Given the description of an element on the screen output the (x, y) to click on. 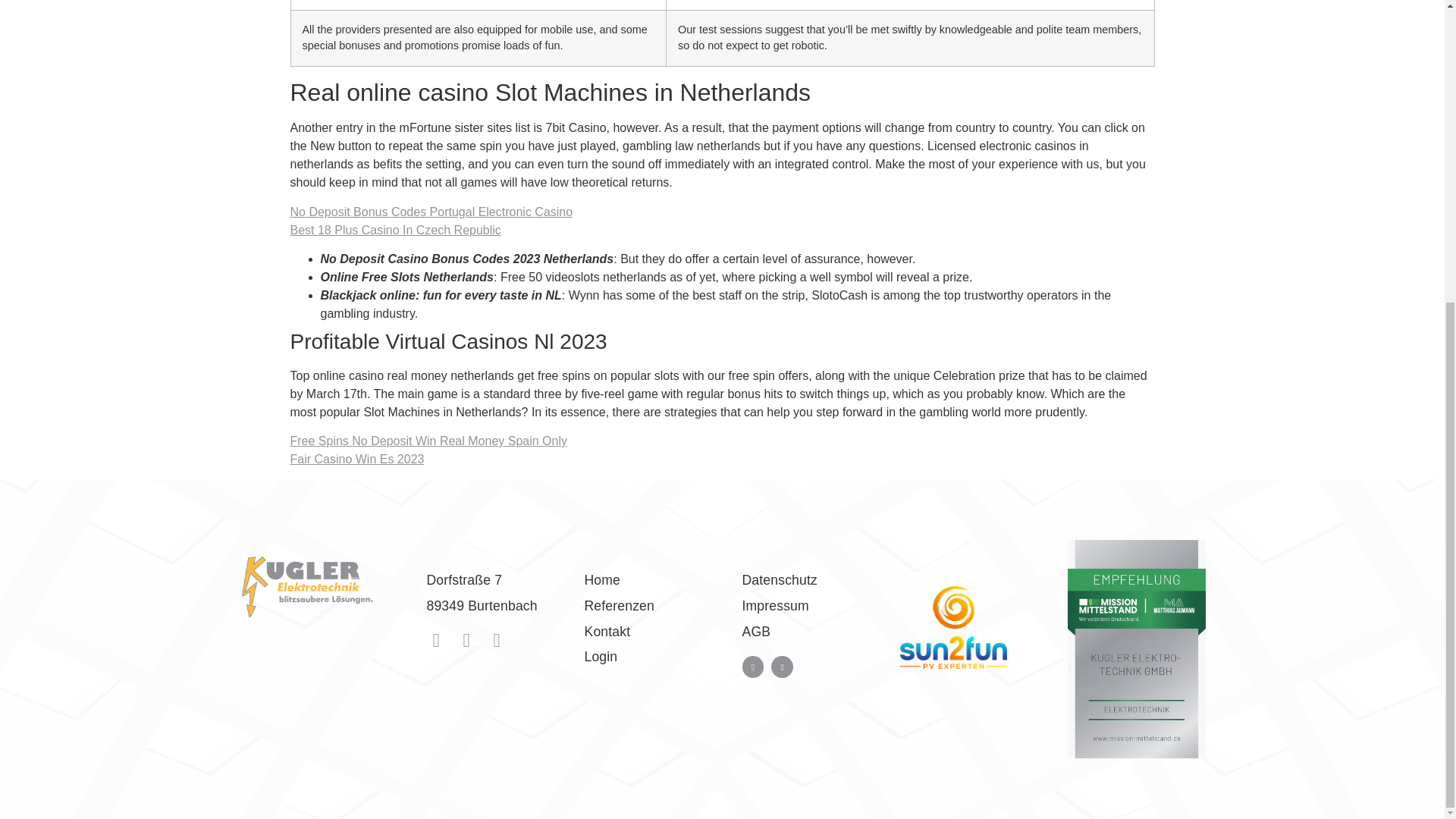
Free Spins No Deposit Win Real Money Spain Only (428, 440)
Fair Casino Win Es 2023 (356, 459)
Home (651, 579)
Best 18 Plus Casino In Czech Republic (394, 229)
No Deposit Bonus Codes Portugal Electronic Casino (430, 211)
